Given the description of an element on the screen output the (x, y) to click on. 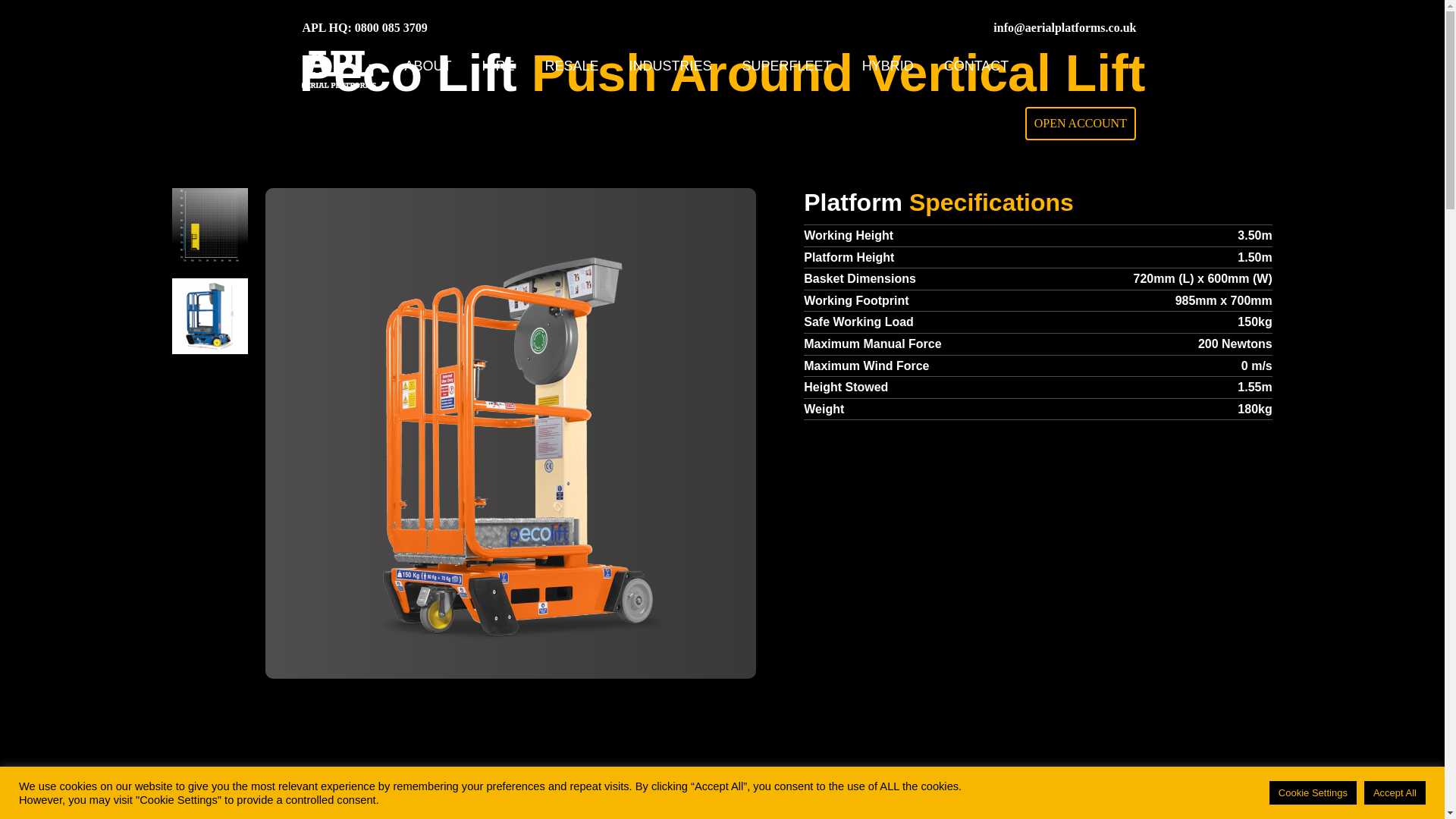
Got it! (1396, 791)
HIRE (498, 66)
SUPERFLEET (787, 66)
RESALE (572, 66)
OPEN ACCOUNT (1080, 123)
CONTACT (976, 66)
INDUSTRIES (670, 66)
0800 085 3709 (391, 27)
View our privacy policy (522, 791)
ABOUT (428, 66)
HYBRID (887, 66)
